Given the description of an element on the screen output the (x, y) to click on. 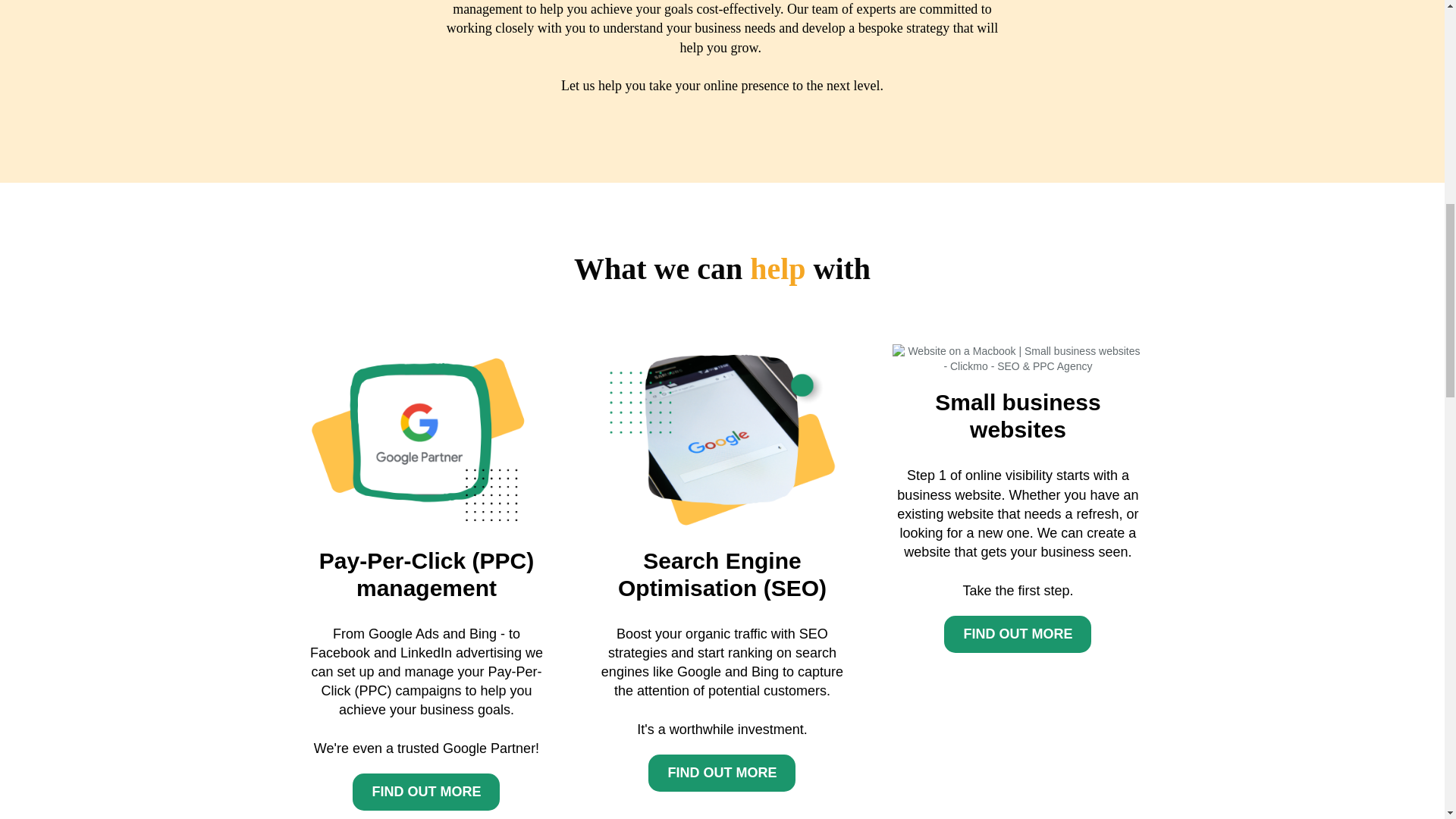
FIND OUT MORE (720, 772)
FIND OUT MORE (1016, 633)
FIND OUT MORE (425, 791)
FIND OUT MORE (1016, 633)
FIND OUT MORE (720, 772)
FIND OUT MORE (425, 791)
